Given the description of an element on the screen output the (x, y) to click on. 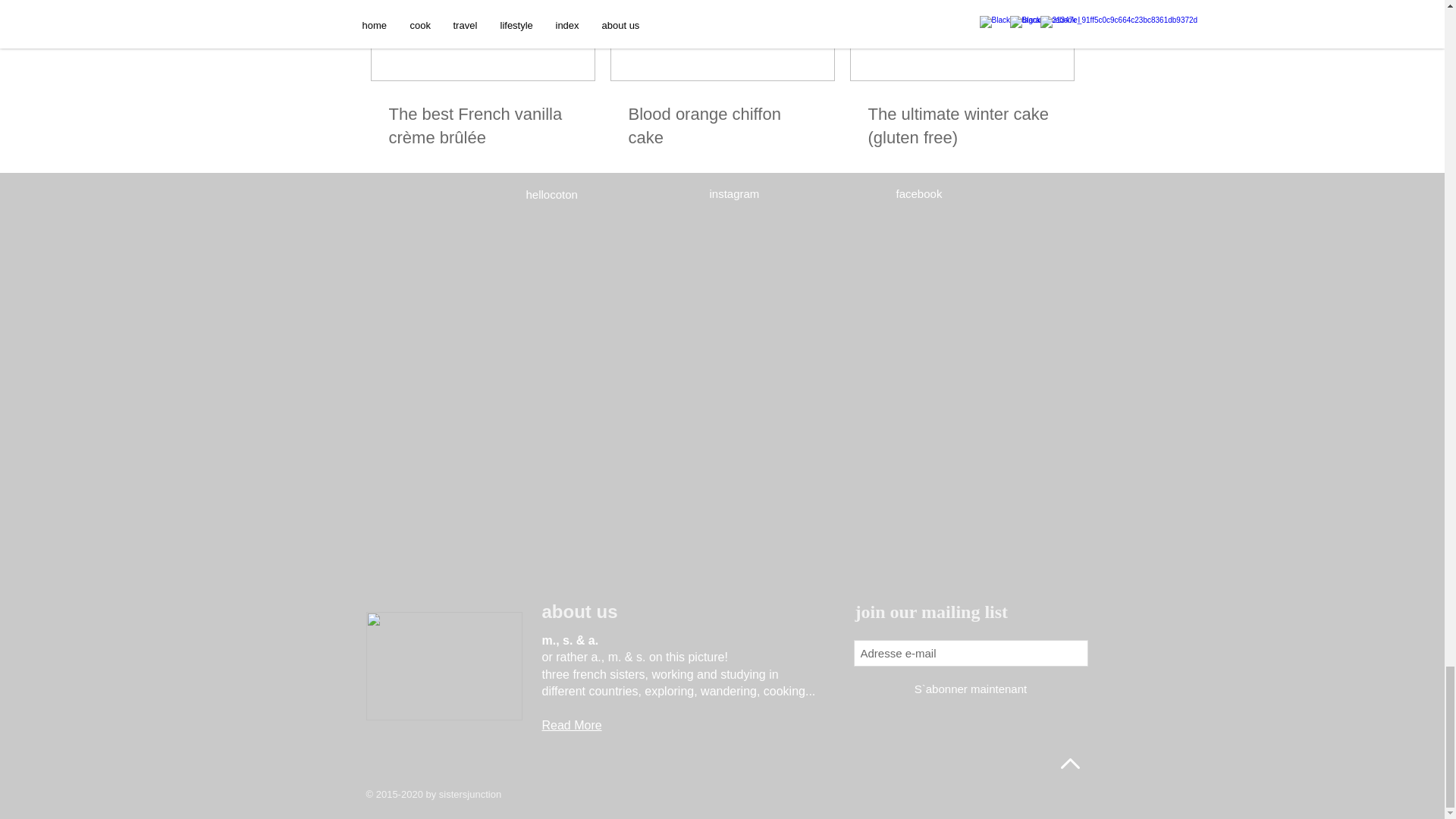
facebook (919, 193)
instagram (735, 193)
hellocoton (551, 194)
Read More (571, 725)
Blood orange chiffon cake (721, 126)
